Given the description of an element on the screen output the (x, y) to click on. 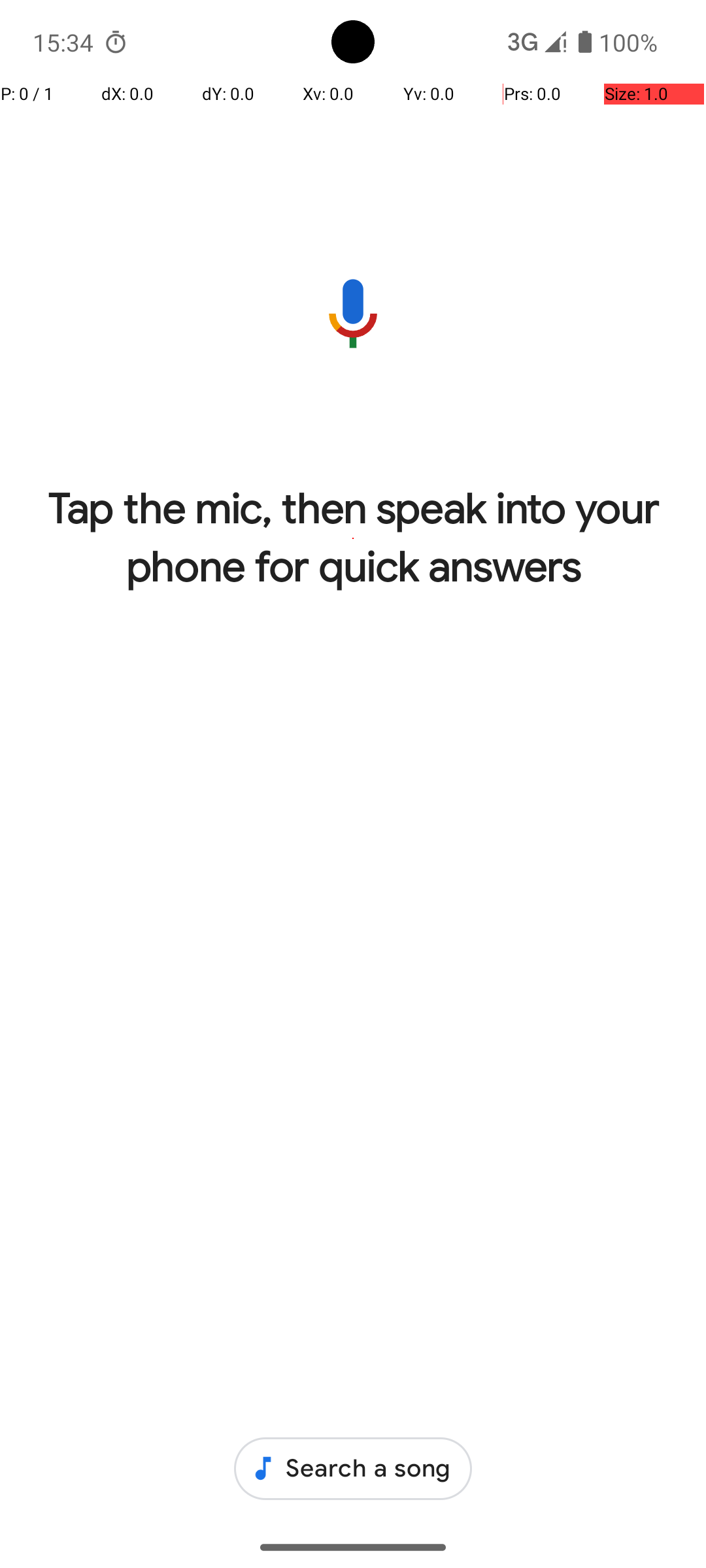
Speak into the phone to ask me something. Element type: android.view.View (352, 313)
Tap the mic, then speak into your phone for quick answers Element type: android.widget.TextView (353, 538)
Search a song Element type: android.widget.Button (352, 1468)
